Given the description of an element on the screen output the (x, y) to click on. 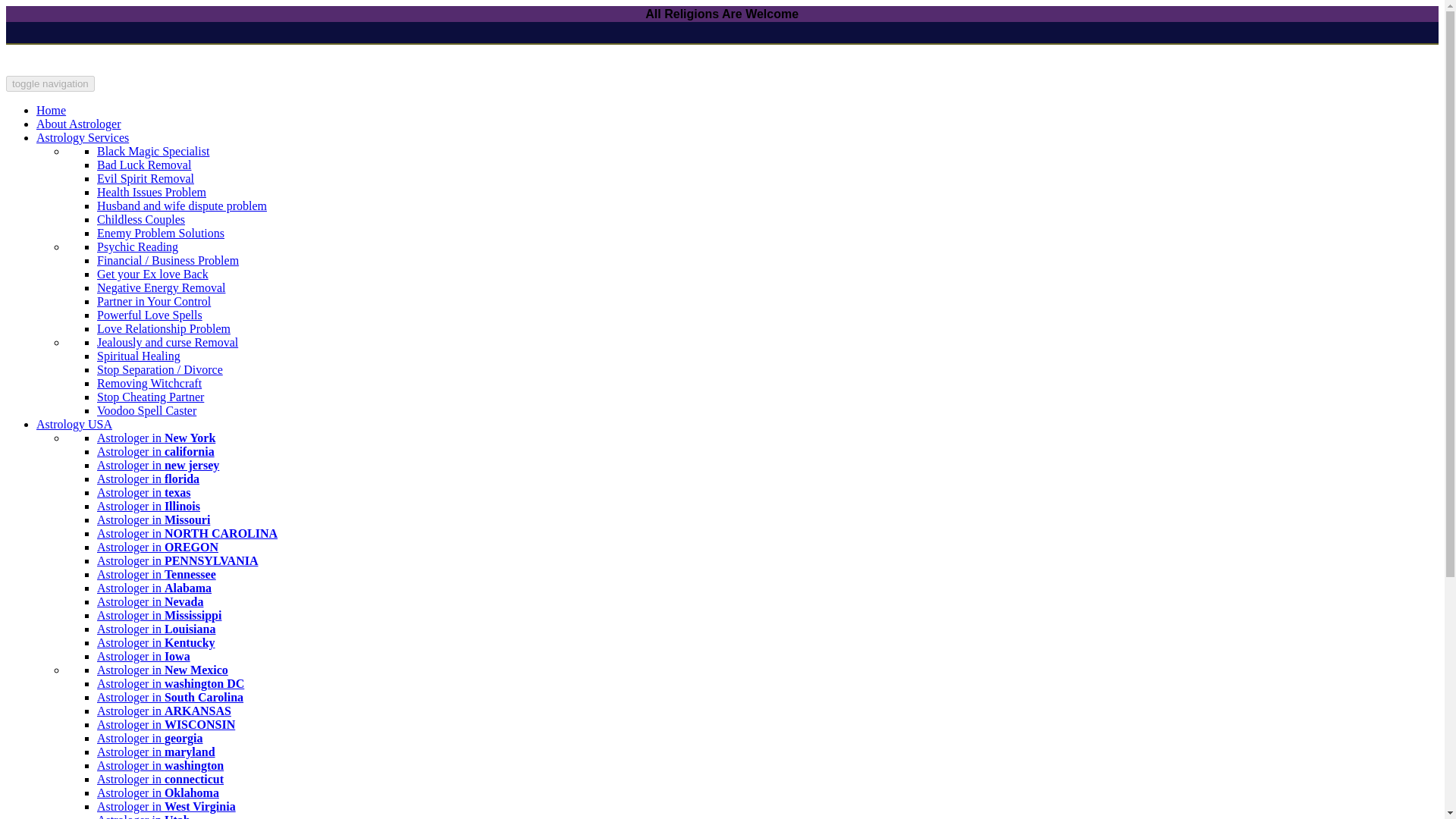
Stop Cheating Partner (150, 396)
Negative Energy Removal (161, 287)
Get your Ex love Back (152, 273)
Astrology USA (74, 423)
Astrologer in florida (148, 478)
Enemy Problem Solutions (160, 232)
Bad Luck Removal (143, 164)
Psychic Reading (137, 246)
Astrologer in New York (156, 437)
Evil Spirit Removal (145, 178)
Partner in Your Control (154, 300)
Astrology Services (82, 137)
Astrologer in new jersey (158, 464)
Astrologer in california (155, 451)
Removing Witchcraft (149, 382)
